Given the description of an element on the screen output the (x, y) to click on. 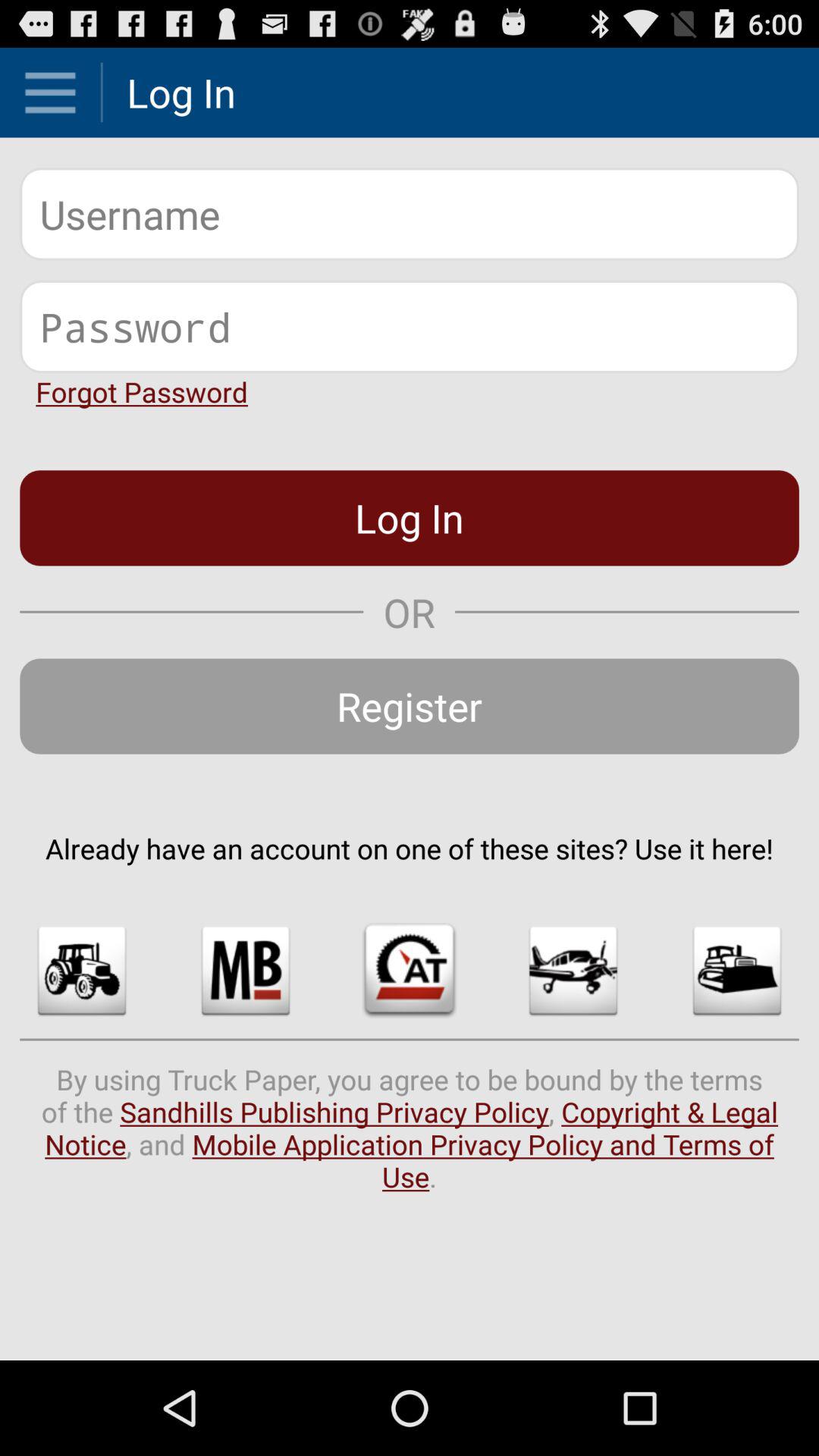
flip until the register item (409, 706)
